Given the description of an element on the screen output the (x, y) to click on. 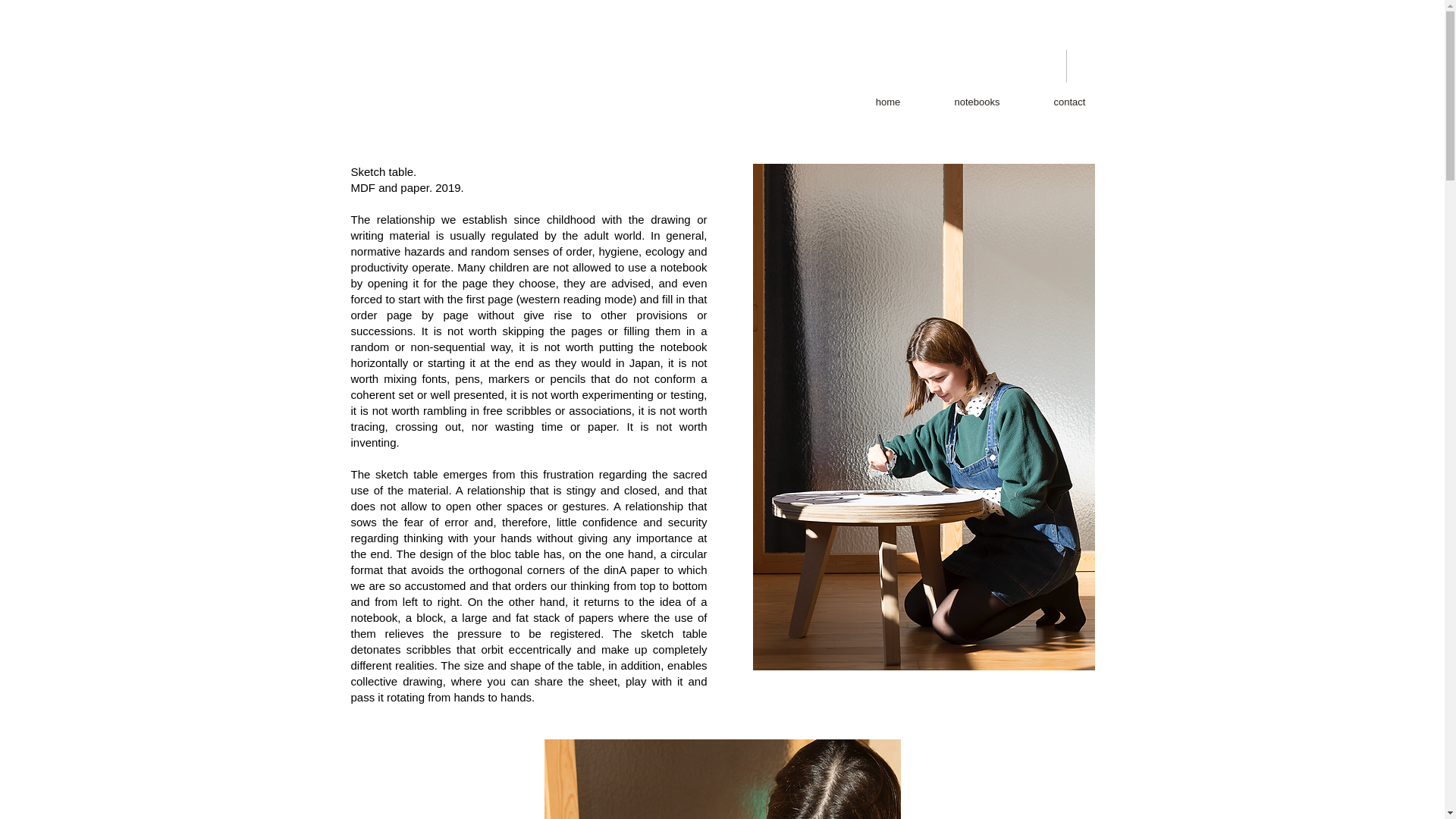
contact (1069, 102)
notebooks (977, 102)
home (887, 102)
